Given the description of an element on the screen output the (x, y) to click on. 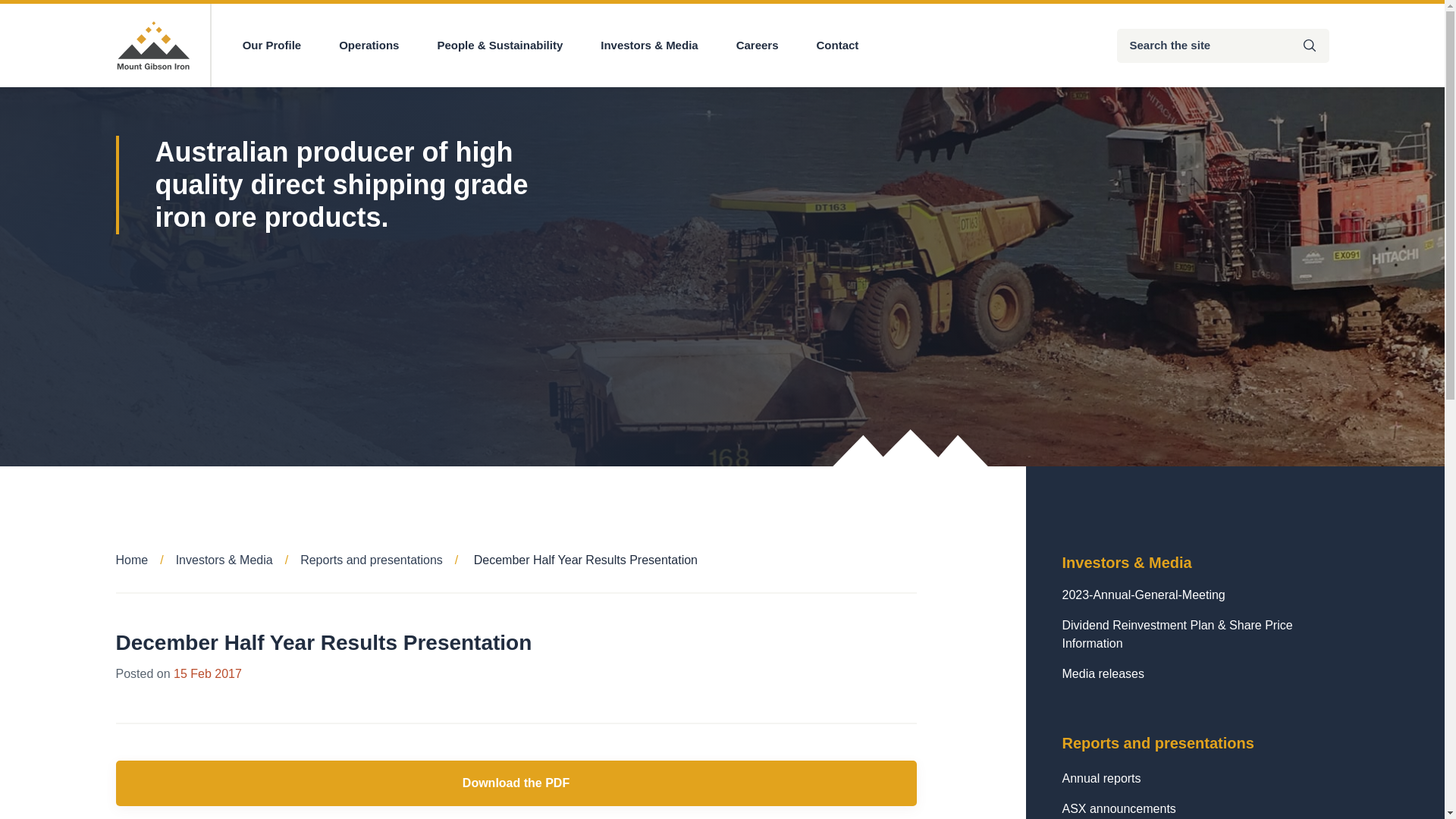
Careers Element type: text (757, 45)
Media releases Element type: text (1194, 674)
Our Profile Element type: text (271, 45)
People & Sustainability Element type: text (499, 45)
Submit Element type: text (1309, 45)
Investors & Media Element type: text (1194, 562)
15 Feb 2017 Element type: text (207, 673)
Annual reports Element type: text (1194, 778)
Investors & Media Element type: text (648, 45)
2023-Annual-General-Meeting Element type: text (1194, 595)
Download the PDF Element type: text (515, 783)
Dividend Reinvestment Plan & Share Price Information Element type: text (1194, 634)
Mt Gibson Iron Element type: text (153, 45)
Home Element type: text (145, 559)
Operations Element type: text (368, 45)
Investors & Media Element type: text (238, 559)
Contact Element type: text (837, 45)
Reports and presentations Element type: text (385, 559)
ASX announcements Element type: text (1194, 809)
